Given the description of an element on the screen output the (x, y) to click on. 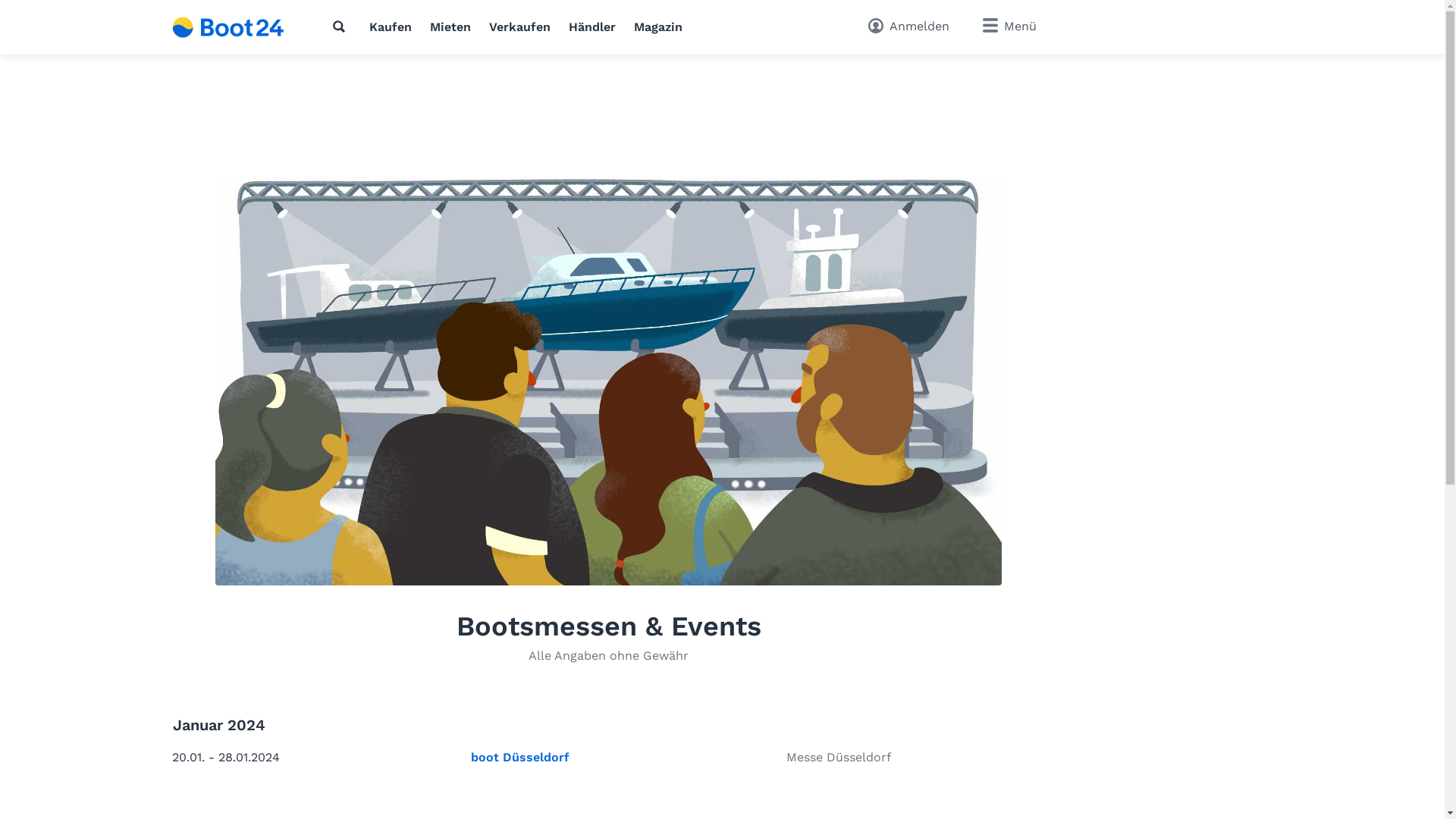
Magazin Element type: text (657, 26)
Anmelden Element type: text (907, 27)
Verkaufen Element type: text (519, 26)
Mieten Element type: text (449, 26)
Kaufen Element type: text (390, 26)
